Given the description of an element on the screen output the (x, y) to click on. 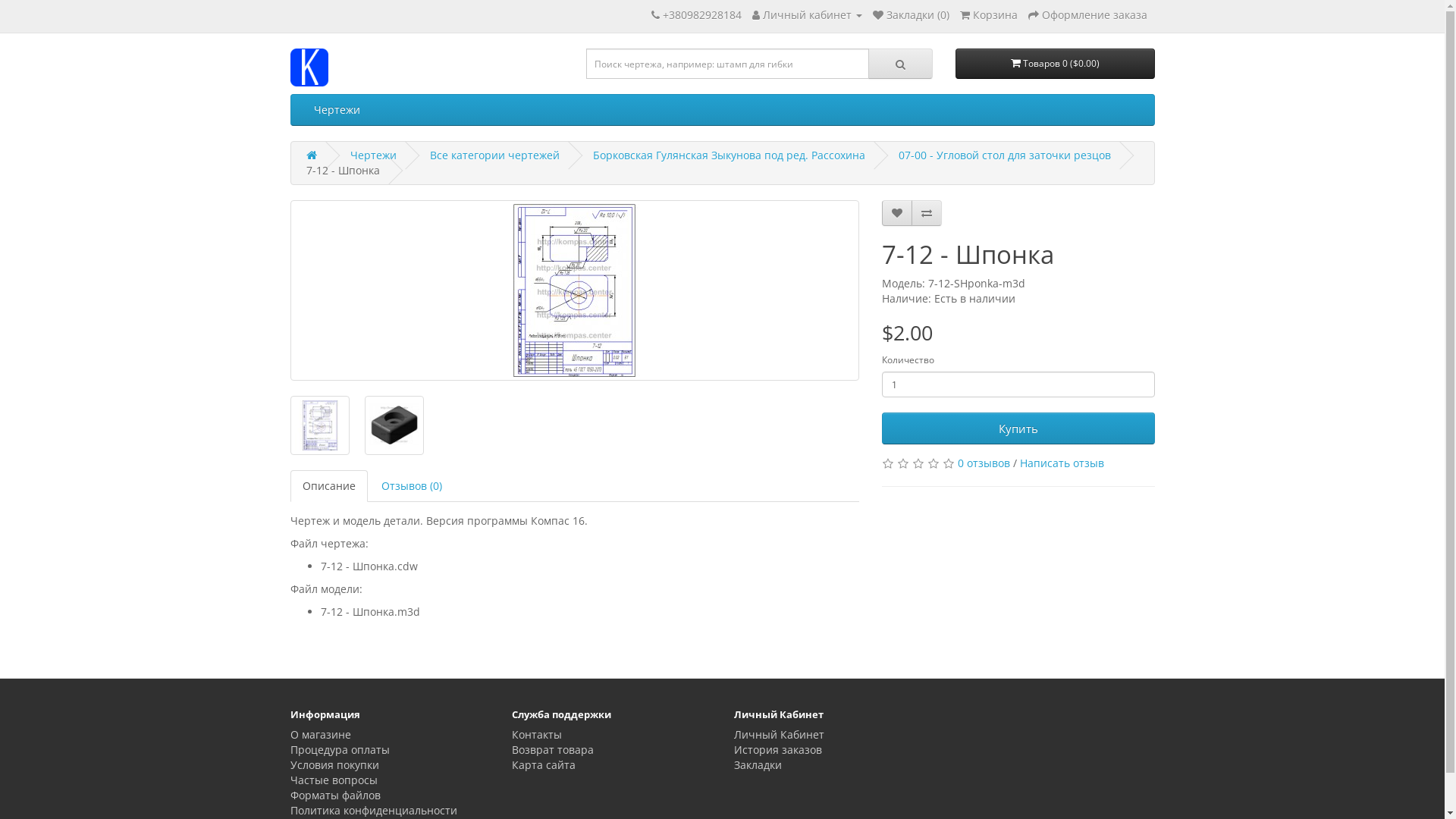
KOMPAS.CENTER Element type: hover (308, 67)
